Given the description of an element on the screen output the (x, y) to click on. 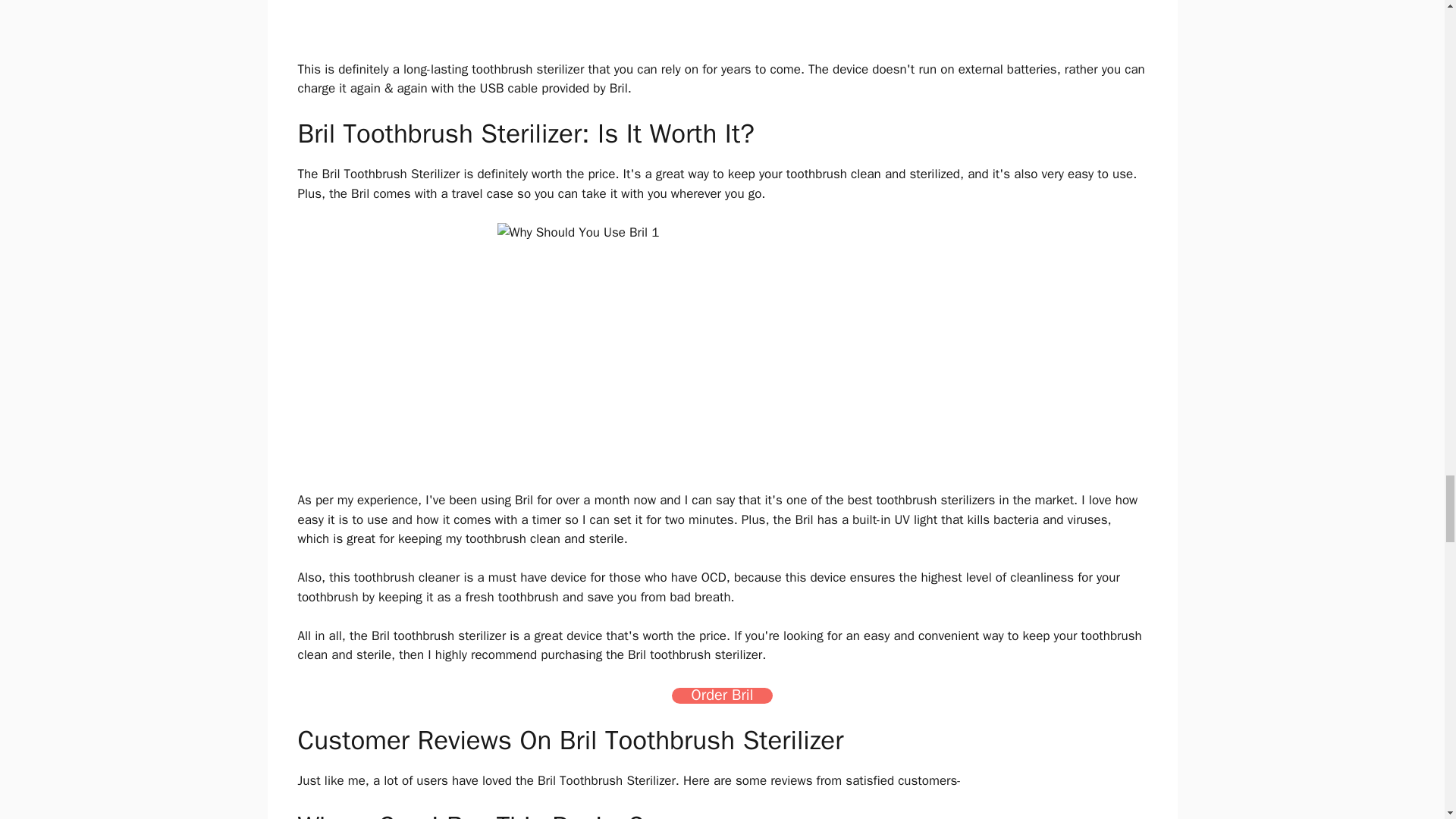
Order Bril (722, 695)
